Given the description of an element on the screen output the (x, y) to click on. 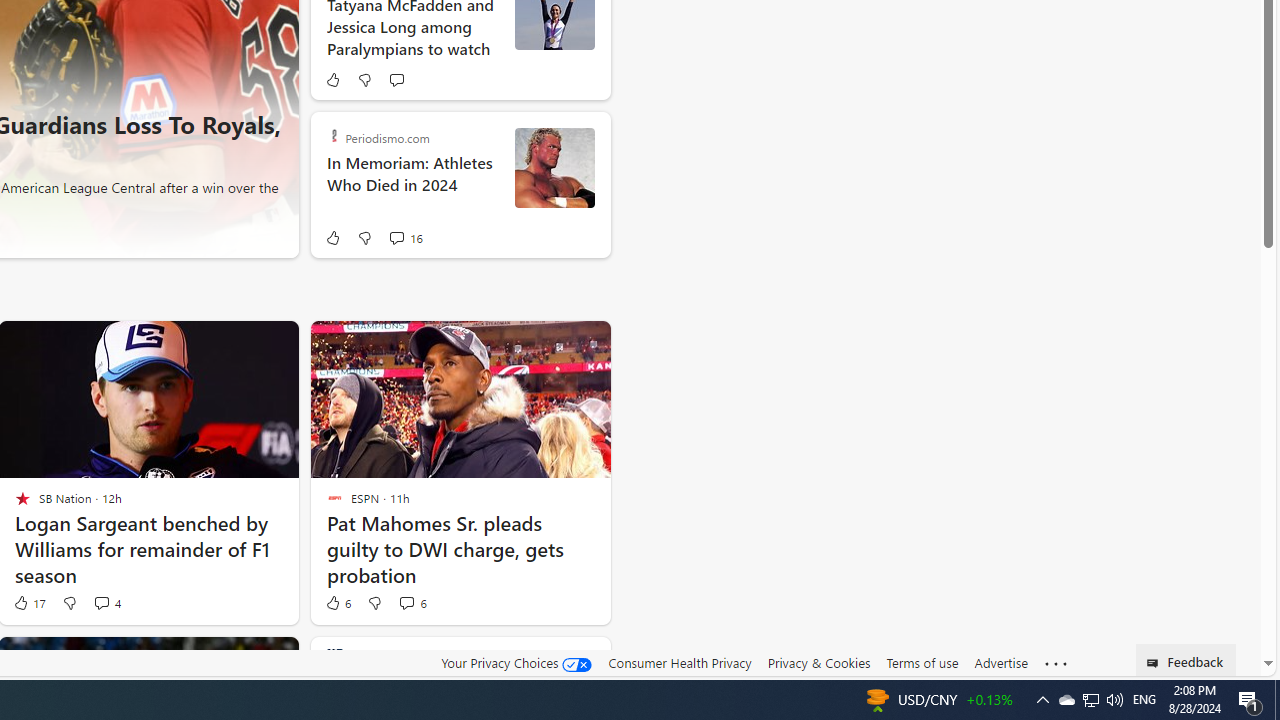
6 Like (337, 601)
Your Privacy Choices (516, 663)
Hide this story (550, 659)
View comments 16 Comment (405, 237)
17 Like (28, 601)
Privacy & Cookies (818, 662)
Consumer Health Privacy (680, 662)
View comments 4 Comment (101, 602)
View comments 6 Comment (412, 601)
